Given the description of an element on the screen output the (x, y) to click on. 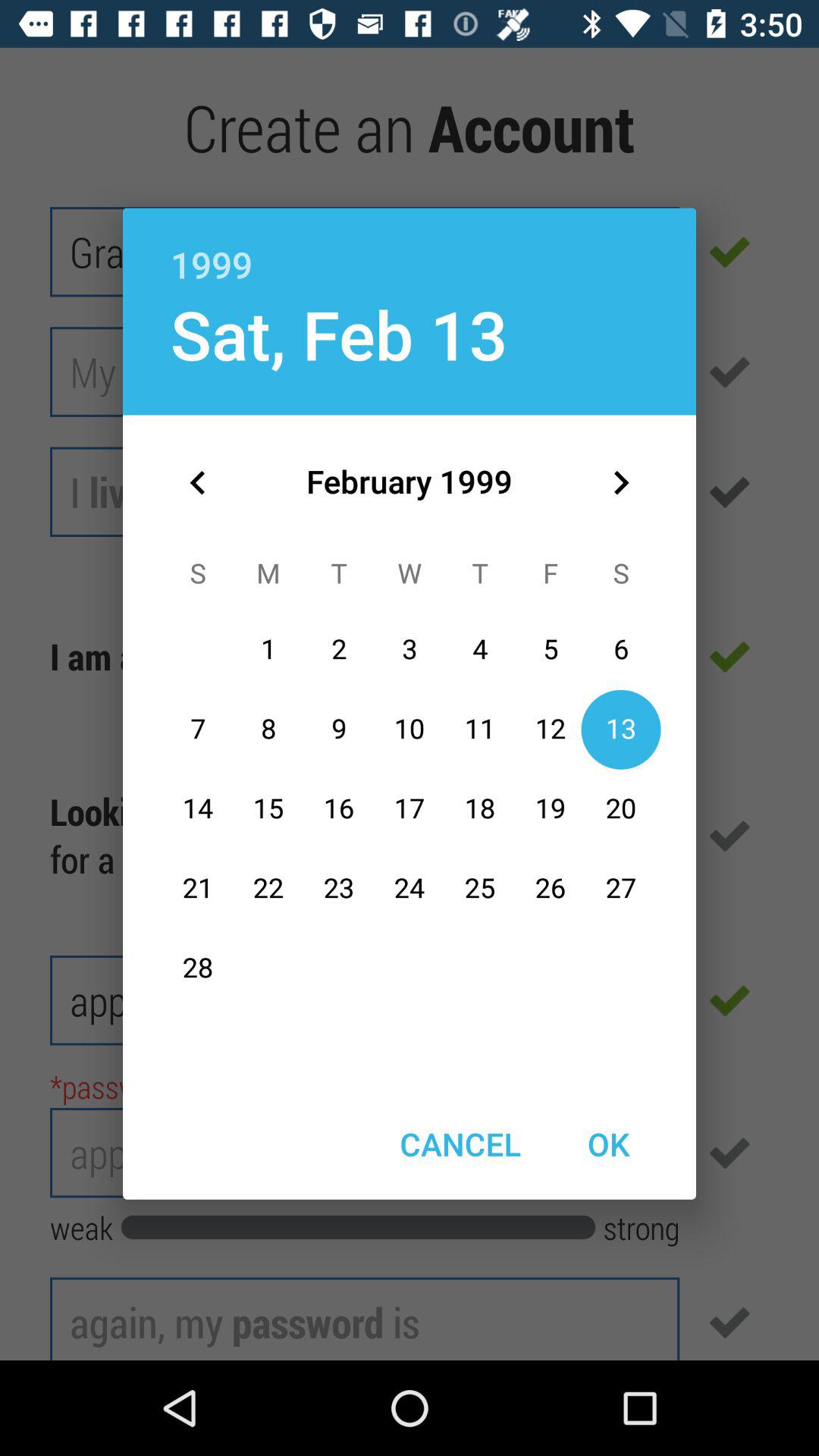
turn off item above ok (620, 482)
